Given the description of an element on the screen output the (x, y) to click on. 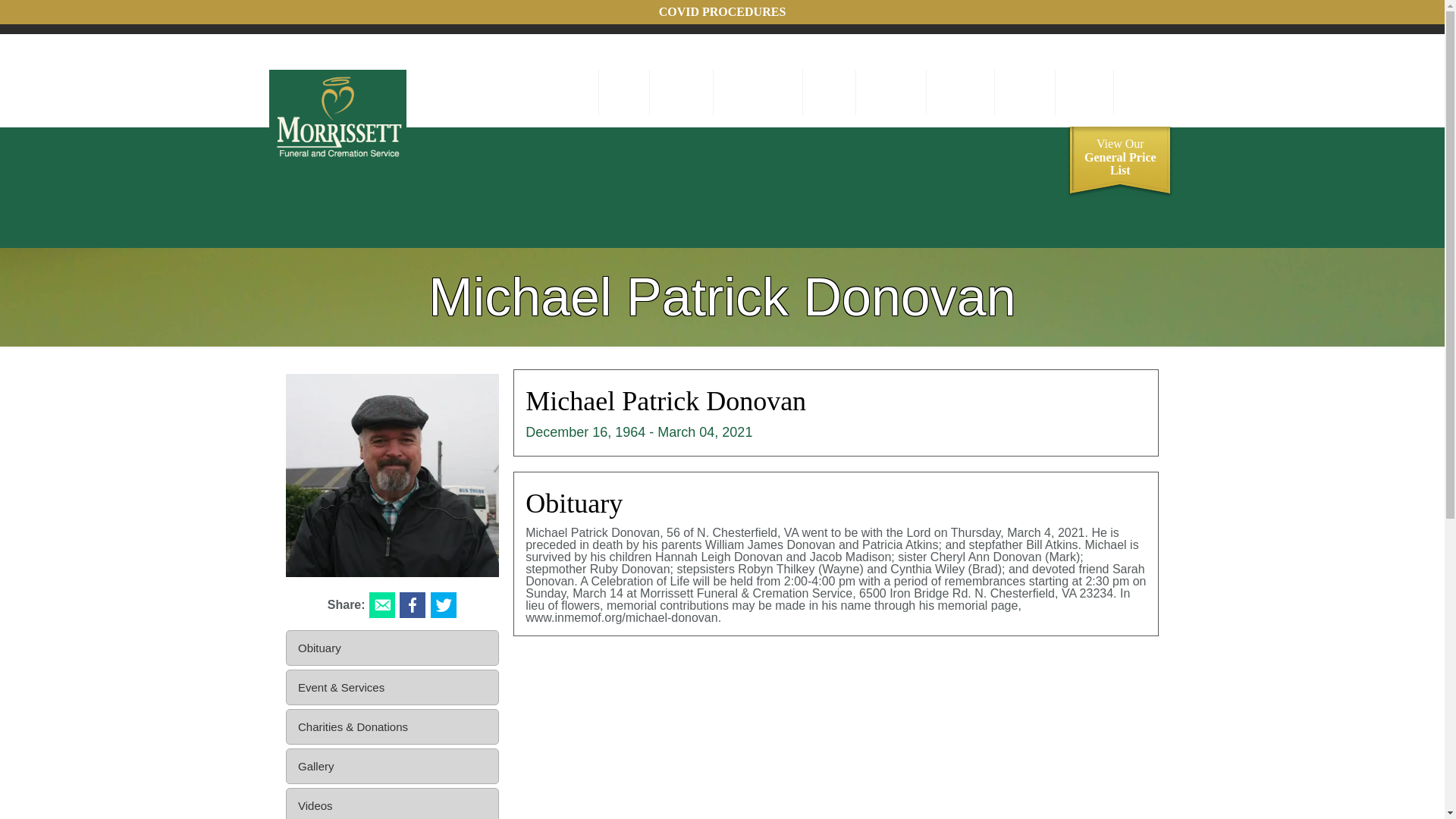
Plan Ahead (681, 92)
Testimonials (960, 92)
After the Funeral (757, 92)
Contact Us (1120, 163)
Resources (1143, 92)
Merchandise (1024, 92)
